Given the description of an element on the screen output the (x, y) to click on. 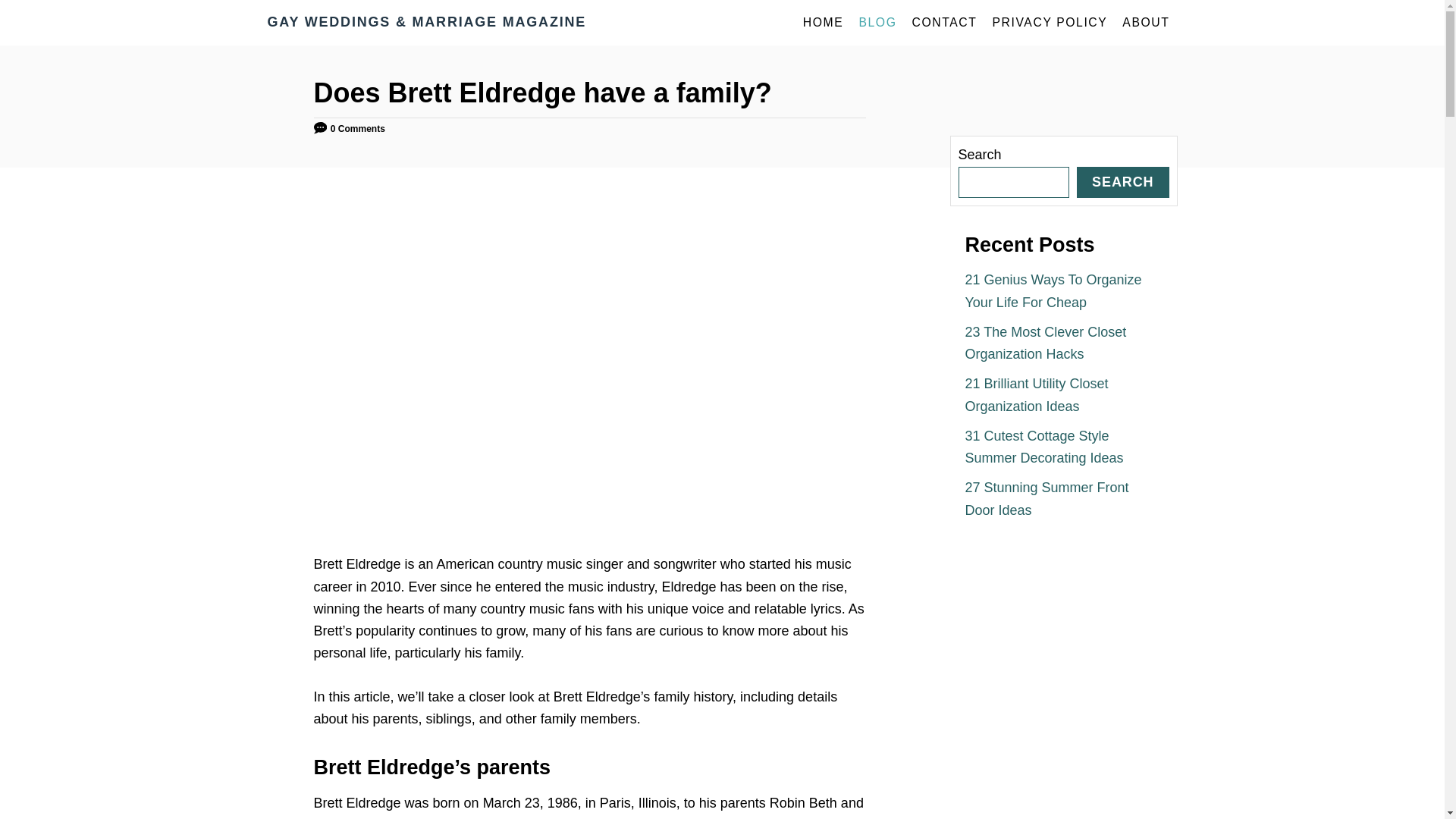
21 Brilliant Utility Closet Organization Ideas (1035, 394)
CONTACT (944, 22)
SEARCH (1123, 182)
BLOG (877, 22)
23 The Most Clever Closet Organization Hacks (1044, 342)
31 Cutest Cottage Style Summer Decorating Ideas (1042, 447)
HOME (822, 22)
21 Genius Ways To Organize Your Life For Cheap (1052, 290)
ABOUT (1145, 22)
